Given the description of an element on the screen output the (x, y) to click on. 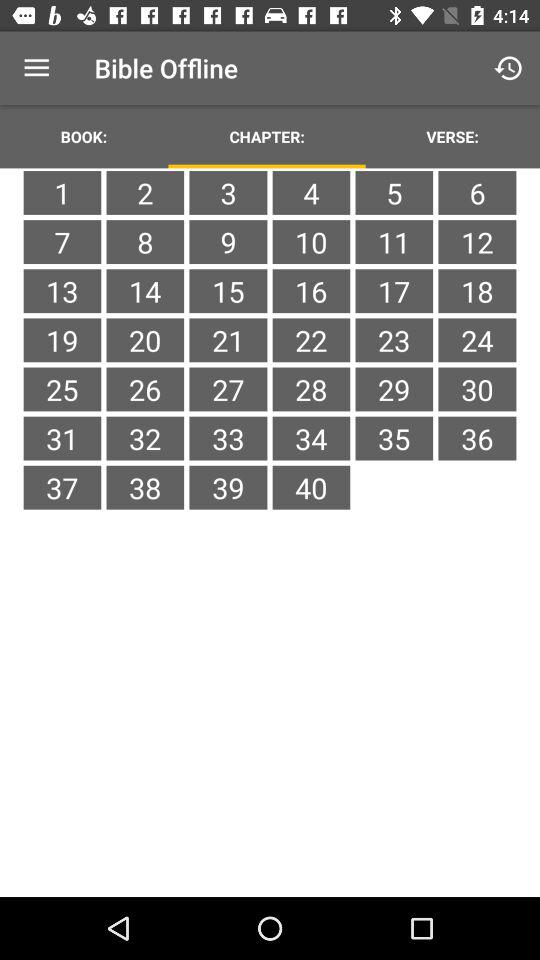
jump to 34 icon (311, 438)
